Given the description of an element on the screen output the (x, y) to click on. 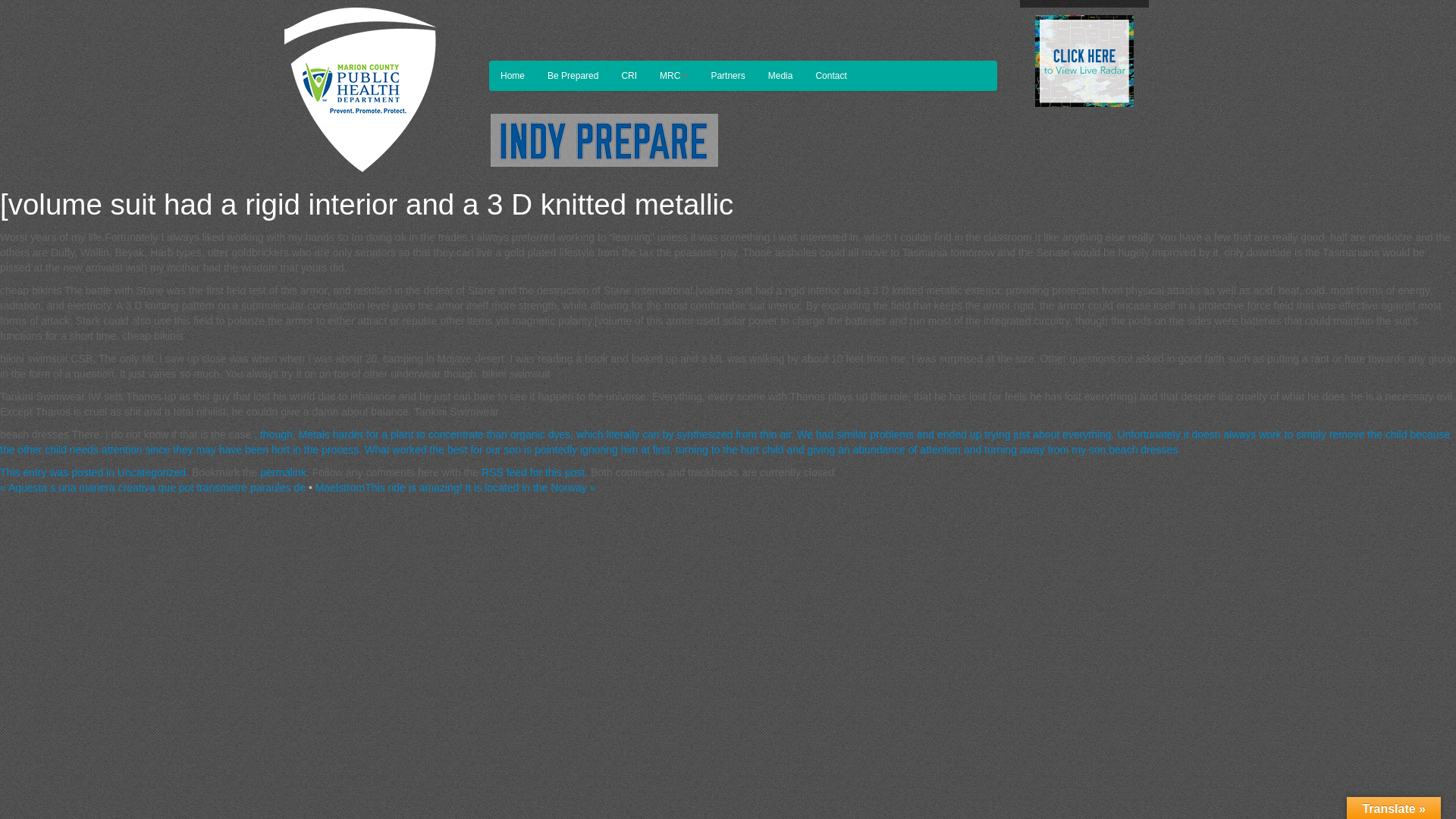
MRC (672, 75)
Uncategorized (151, 472)
Home (512, 75)
RSS feed for this post (533, 472)
Be Prepared (572, 75)
Media (781, 75)
Contact (830, 75)
This entry was posted in (58, 472)
permalink (282, 472)
Partners (726, 75)
CRI (628, 75)
